Given the description of an element on the screen output the (x, y) to click on. 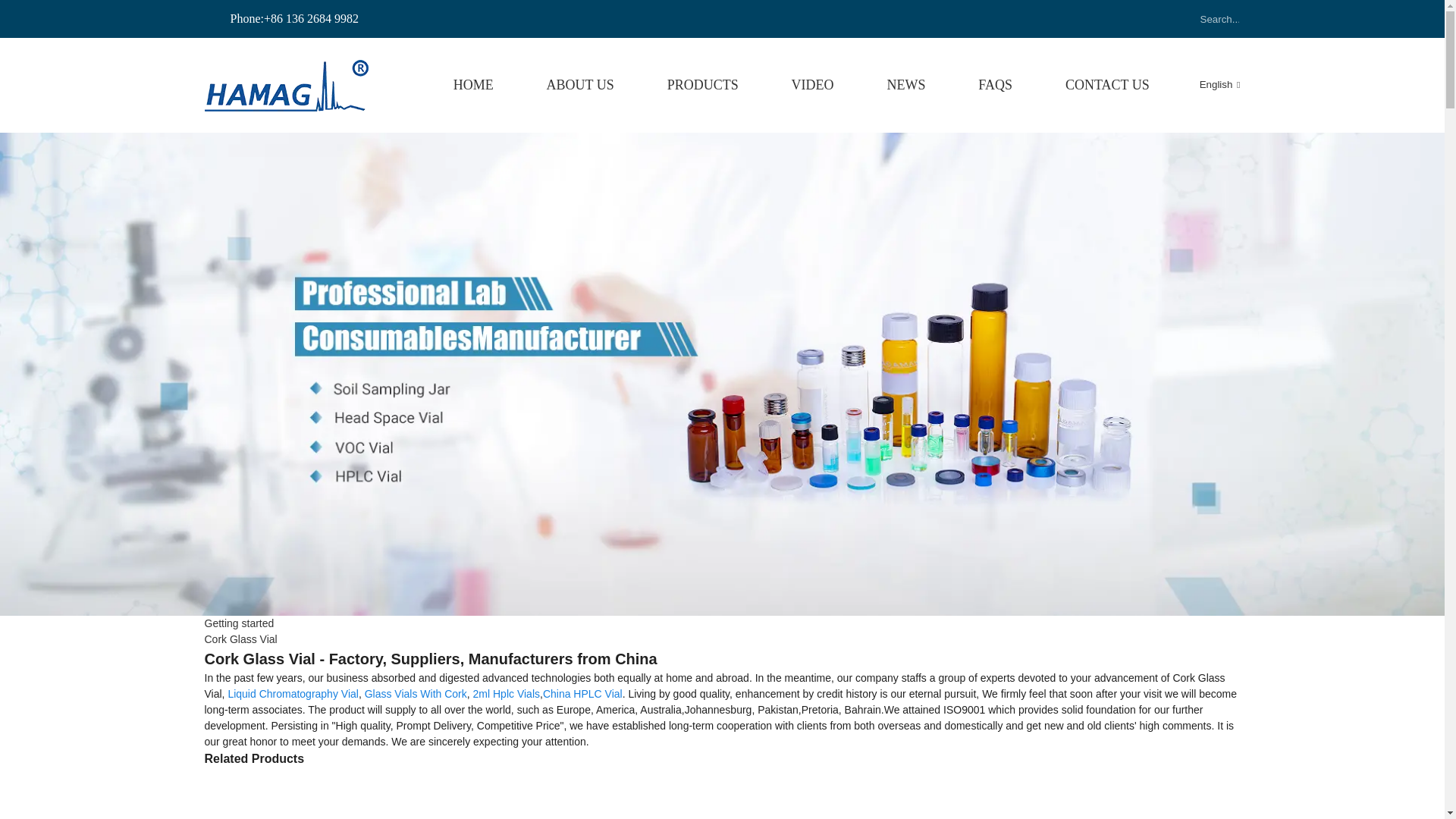
Glass Vials With Cork (416, 693)
China HPLC Vial (583, 693)
2ml Hplc Vials (506, 693)
PRODUCTS (702, 84)
Liquid Chromatography Vial (292, 693)
HOME (472, 84)
ABOUT US (580, 84)
